Given the description of an element on the screen output the (x, y) to click on. 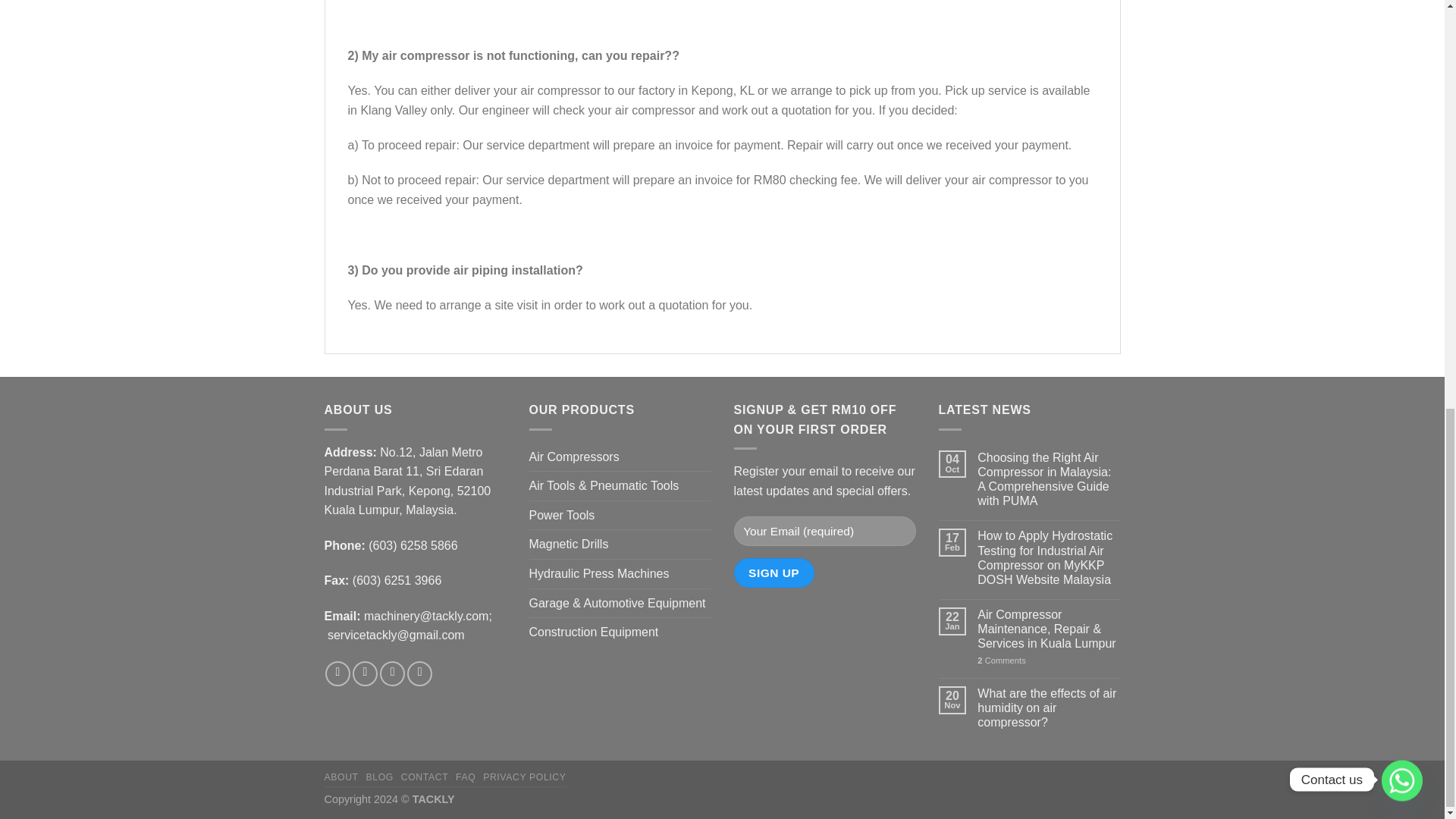
Send us an email (364, 673)
Sign Up (773, 572)
Call us (392, 673)
Follow on Facebook (337, 673)
Follow on LinkedIn (419, 673)
